Given the description of an element on the screen output the (x, y) to click on. 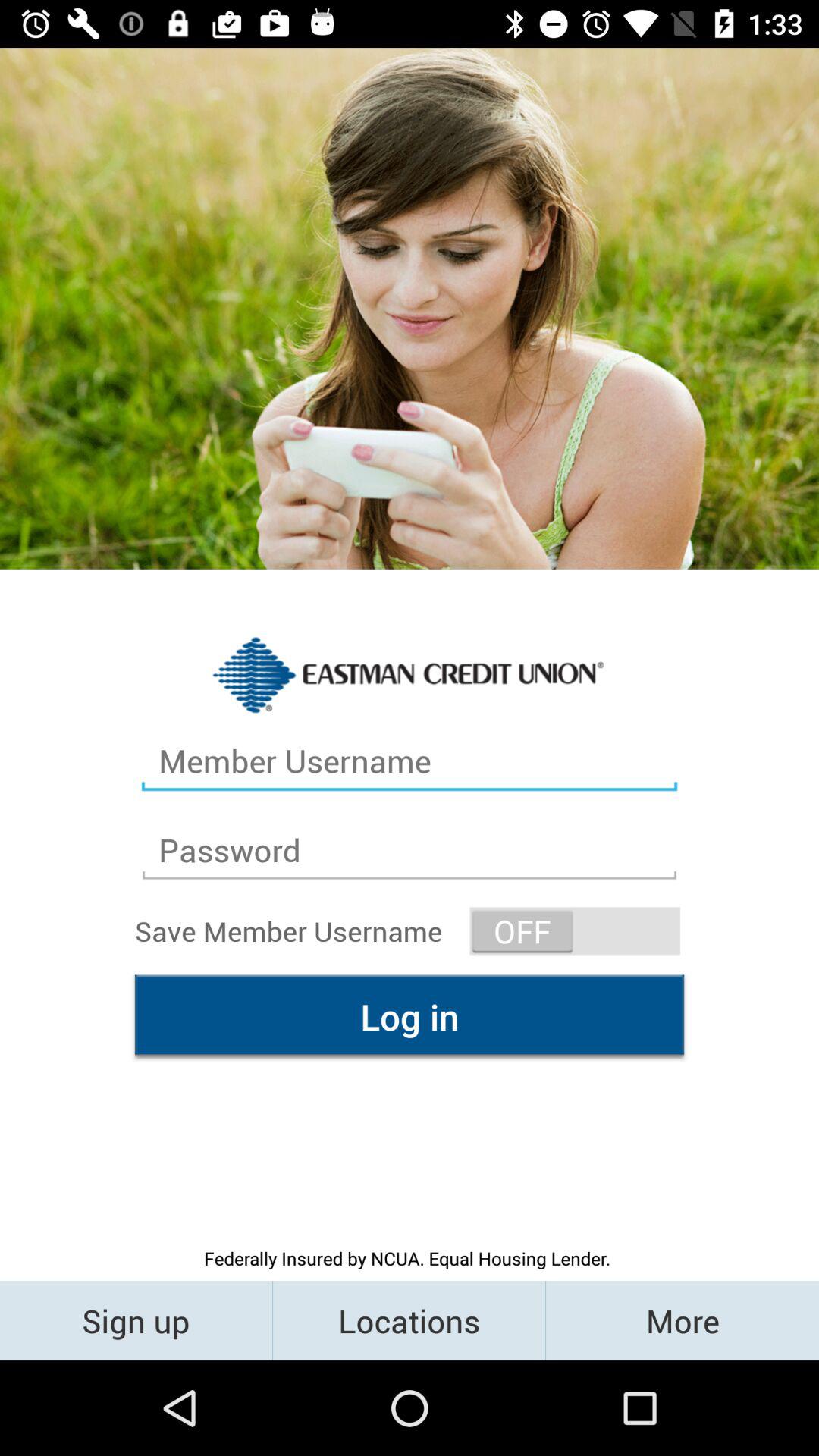
launch the icon next to the sign up (409, 1320)
